Given the description of an element on the screen output the (x, y) to click on. 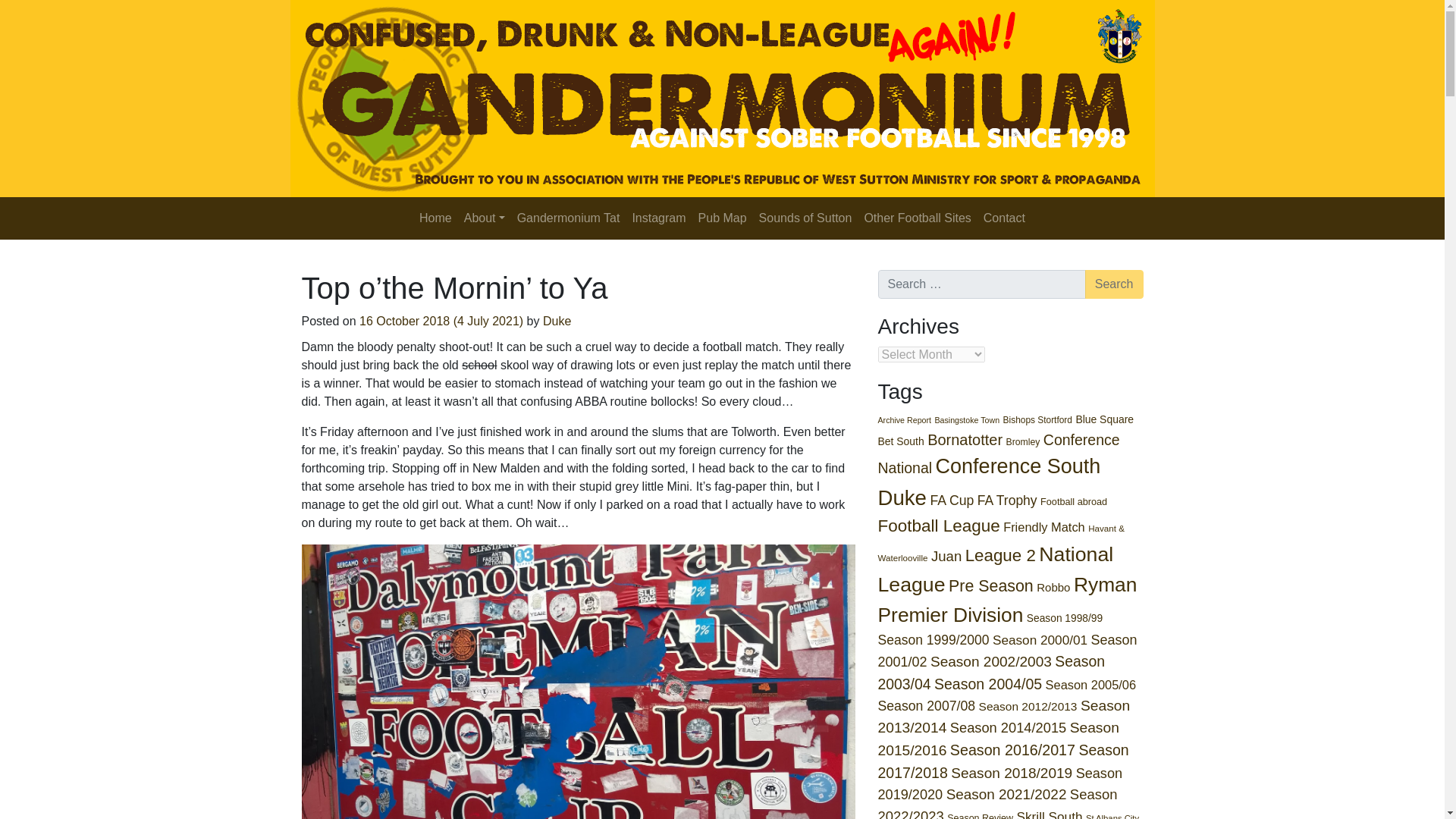
Duke (901, 497)
Search (1113, 284)
Duke (556, 320)
Contact (1003, 218)
Pub Map (722, 218)
Bishops Stortford (1037, 419)
Sounds of Sutton (805, 218)
About (484, 218)
Instagram (658, 218)
Conference National (998, 453)
Other Football Sites (916, 218)
Gandermonium Tat (568, 218)
Basingstoke Town (966, 420)
Home (435, 218)
Other Football Sites (916, 218)
